Given the description of an element on the screen output the (x, y) to click on. 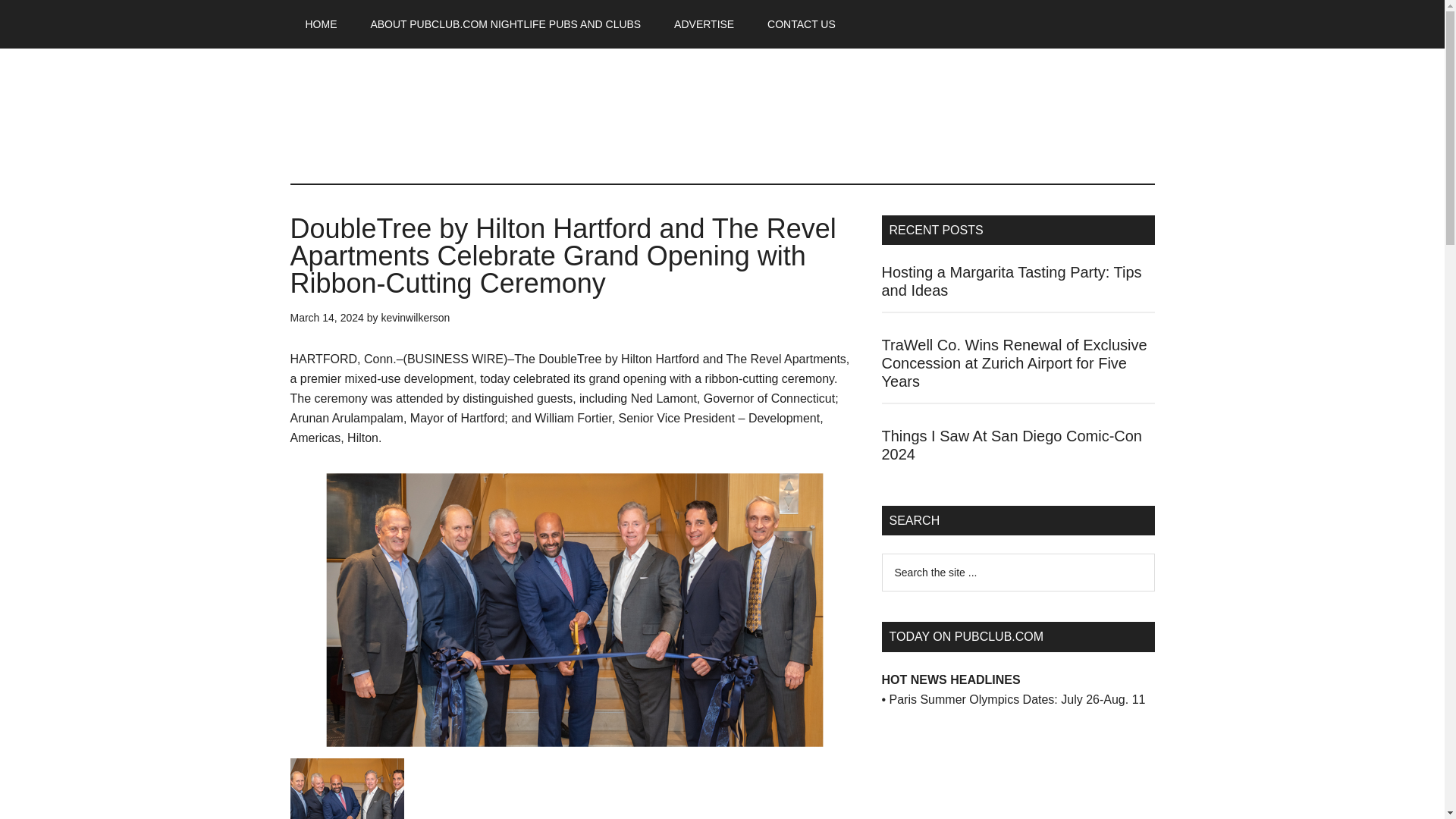
YouTube video player (994, 773)
PubClub (433, 112)
HOME (320, 24)
ADVERTISE (704, 24)
CONTACT US (801, 24)
kevinwilkerson (414, 317)
Things I Saw At San Diego Comic-Con 2024 (1010, 444)
ABOUT PUBCLUB.COM NIGHTLIFE PUBS AND CLUBS (505, 24)
Hosting a Margarita Tasting Party: Tips and Ideas (1010, 280)
